Given the description of an element on the screen output the (x, y) to click on. 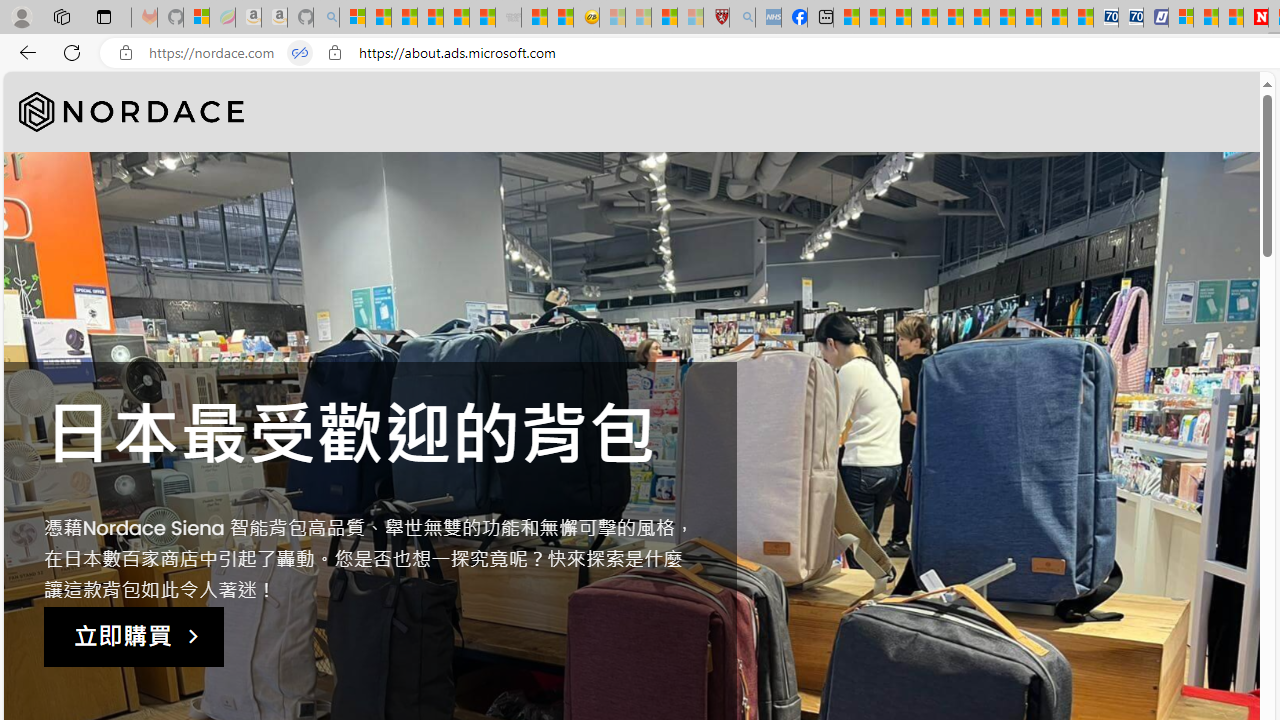
Tabs in split screen (299, 53)
Cheap Car Rentals - Save70.com (1105, 17)
12 Popular Science Lies that Must be Corrected - Sleeping (690, 17)
